Given the description of an element on the screen output the (x, y) to click on. 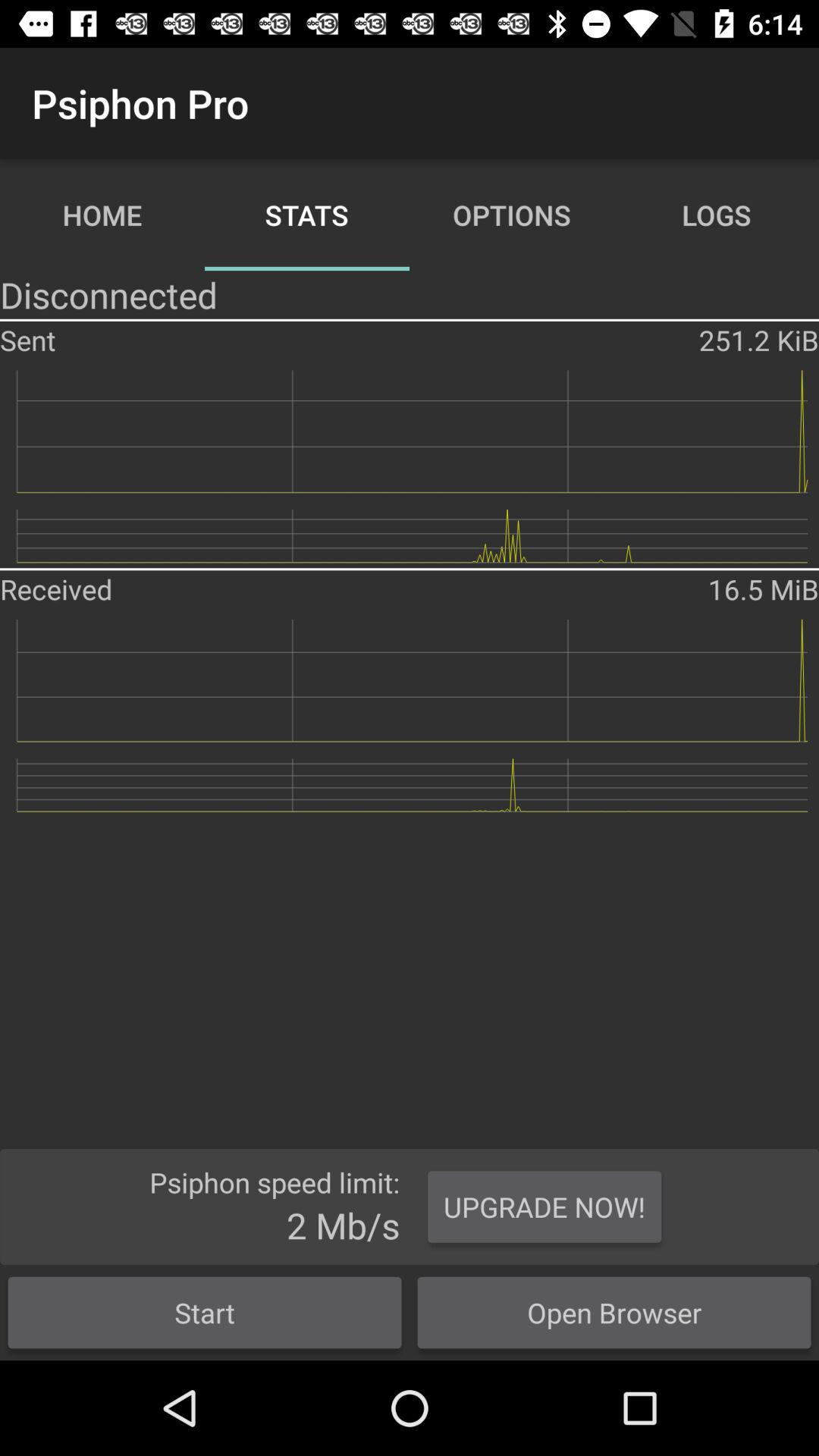
turn off the icon above the open browser (544, 1206)
